Given the description of an element on the screen output the (x, y) to click on. 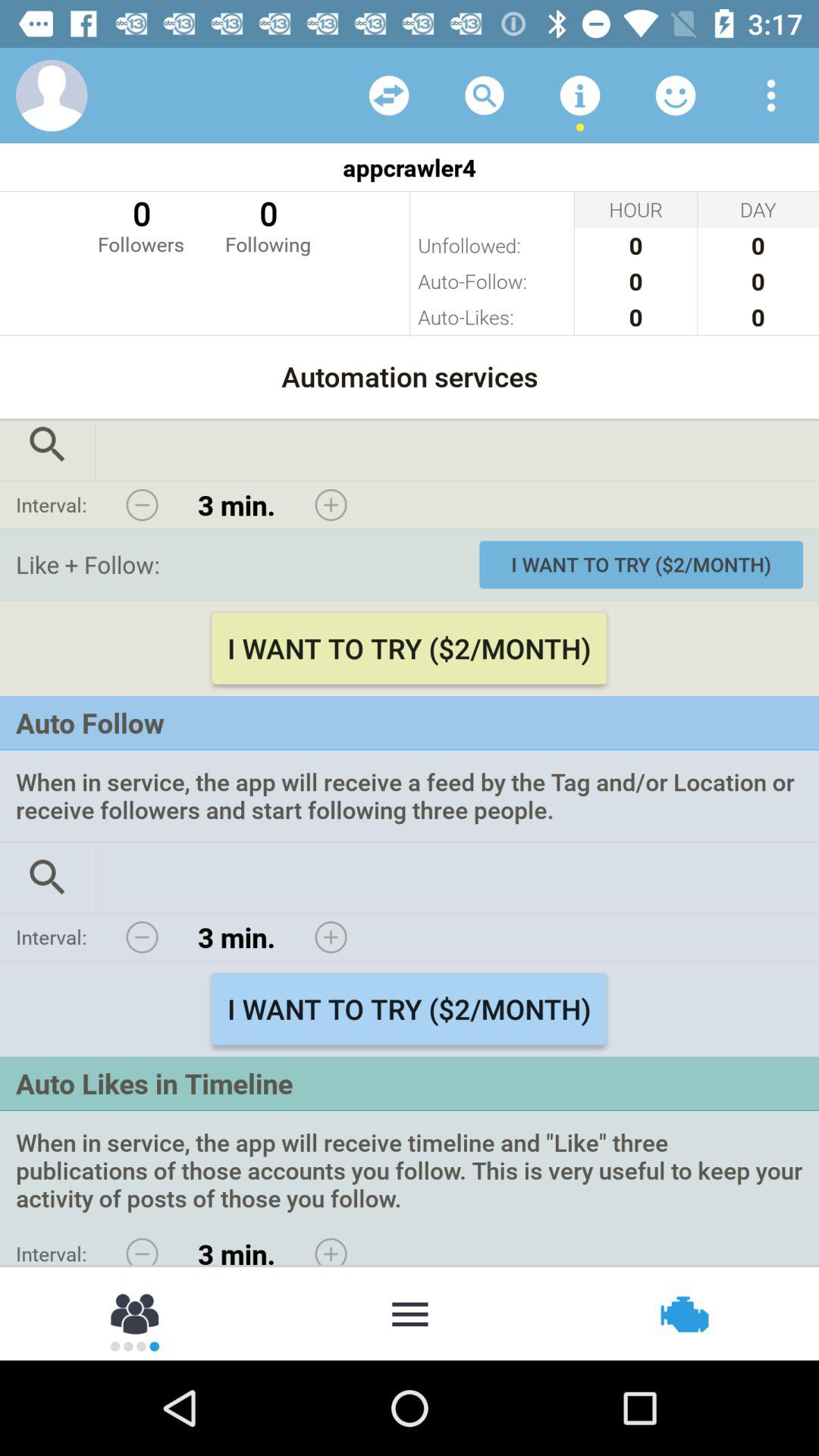
turn off item above the appcrawler4 item (51, 95)
